Given the description of an element on the screen output the (x, y) to click on. 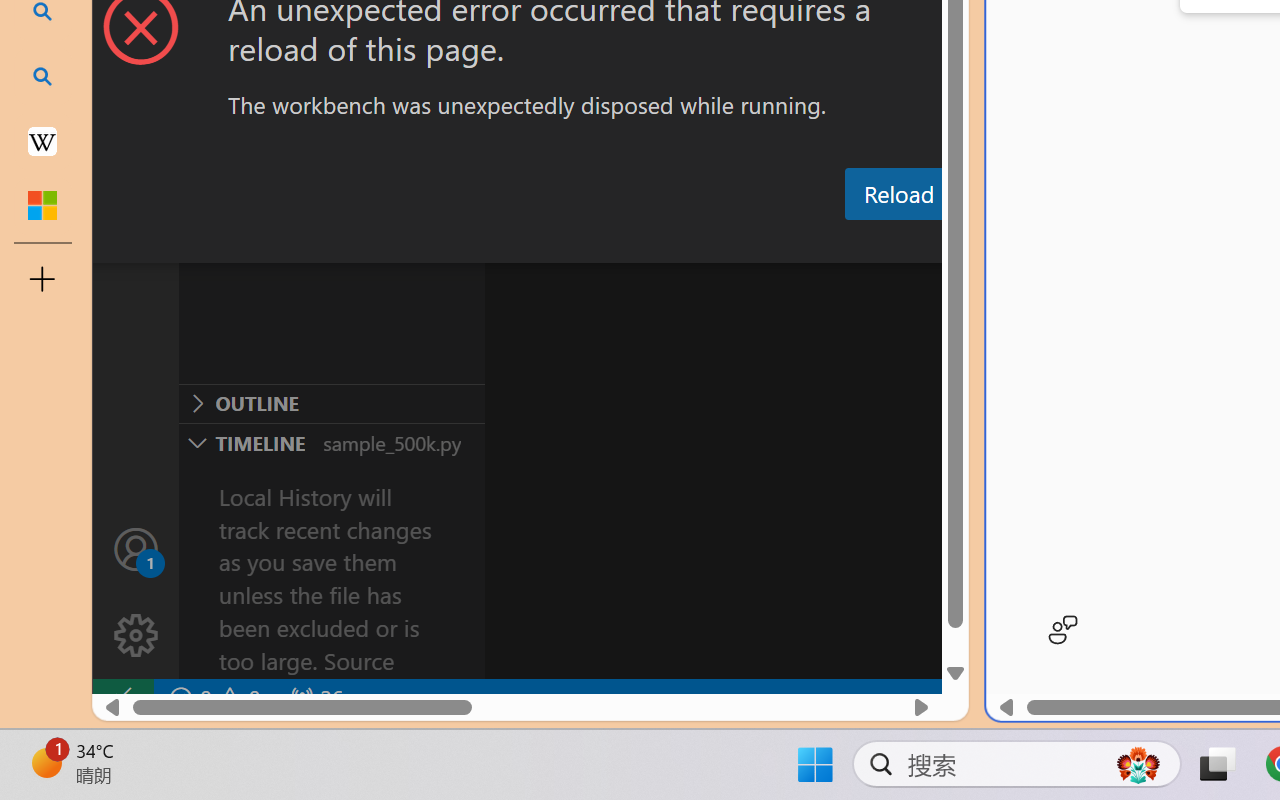
Problems (Ctrl+Shift+M) (567, 243)
Manage (135, 635)
Manage (135, 591)
Timeline Section (331, 442)
Accounts - Sign in requested (135, 548)
Debug Console (Ctrl+Shift+Y) (854, 243)
Reload (898, 193)
Output (Ctrl+Shift+U) (696, 243)
